Given the description of an element on the screen output the (x, y) to click on. 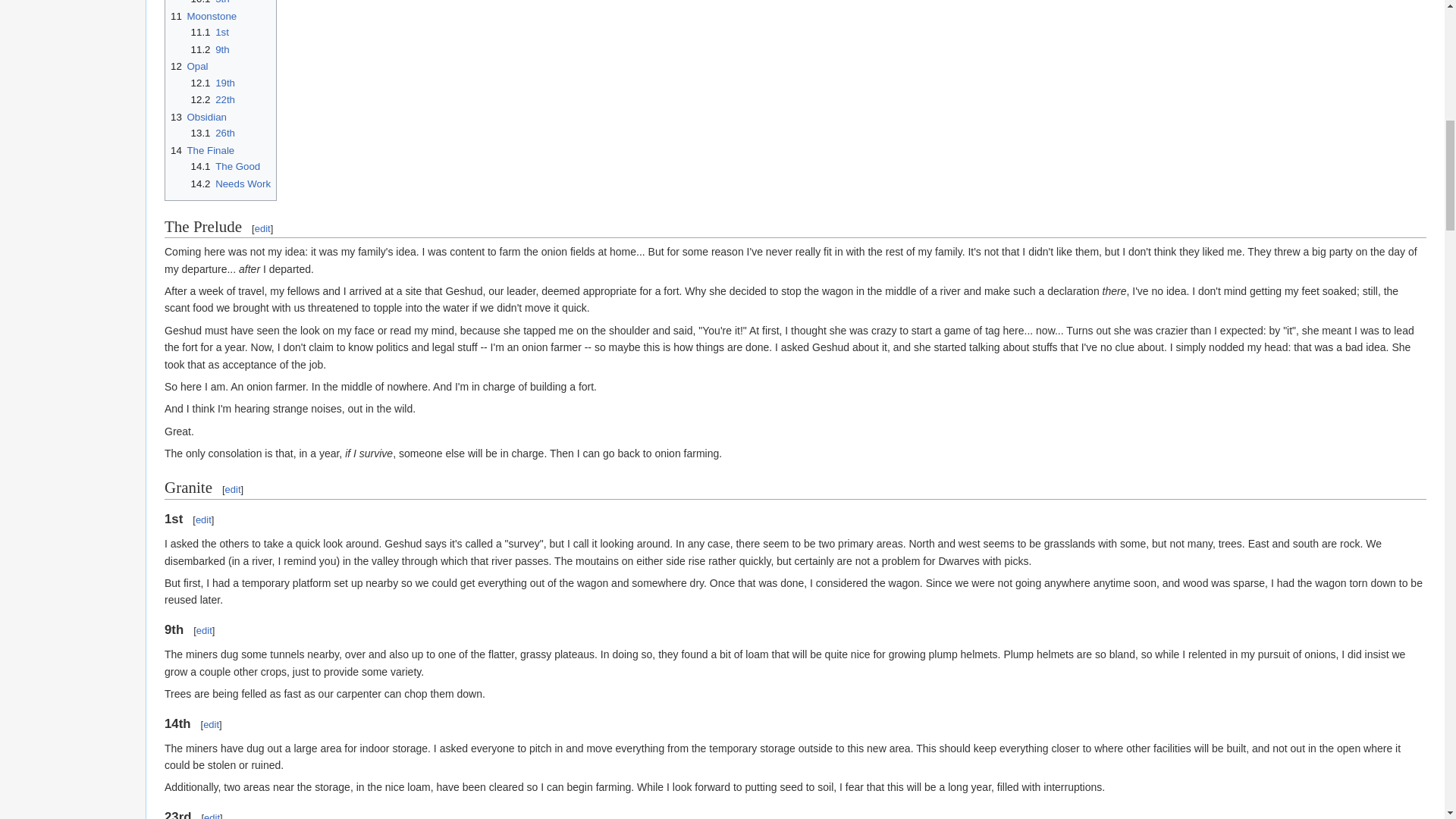
Edit section: 1st (203, 519)
Edit section: 23rd (211, 815)
Edit section: Granite (233, 489)
Edit section: 14th (211, 724)
Edit section: The Prelude (262, 228)
Edit section: 9th (204, 630)
